Given the description of an element on the screen output the (x, y) to click on. 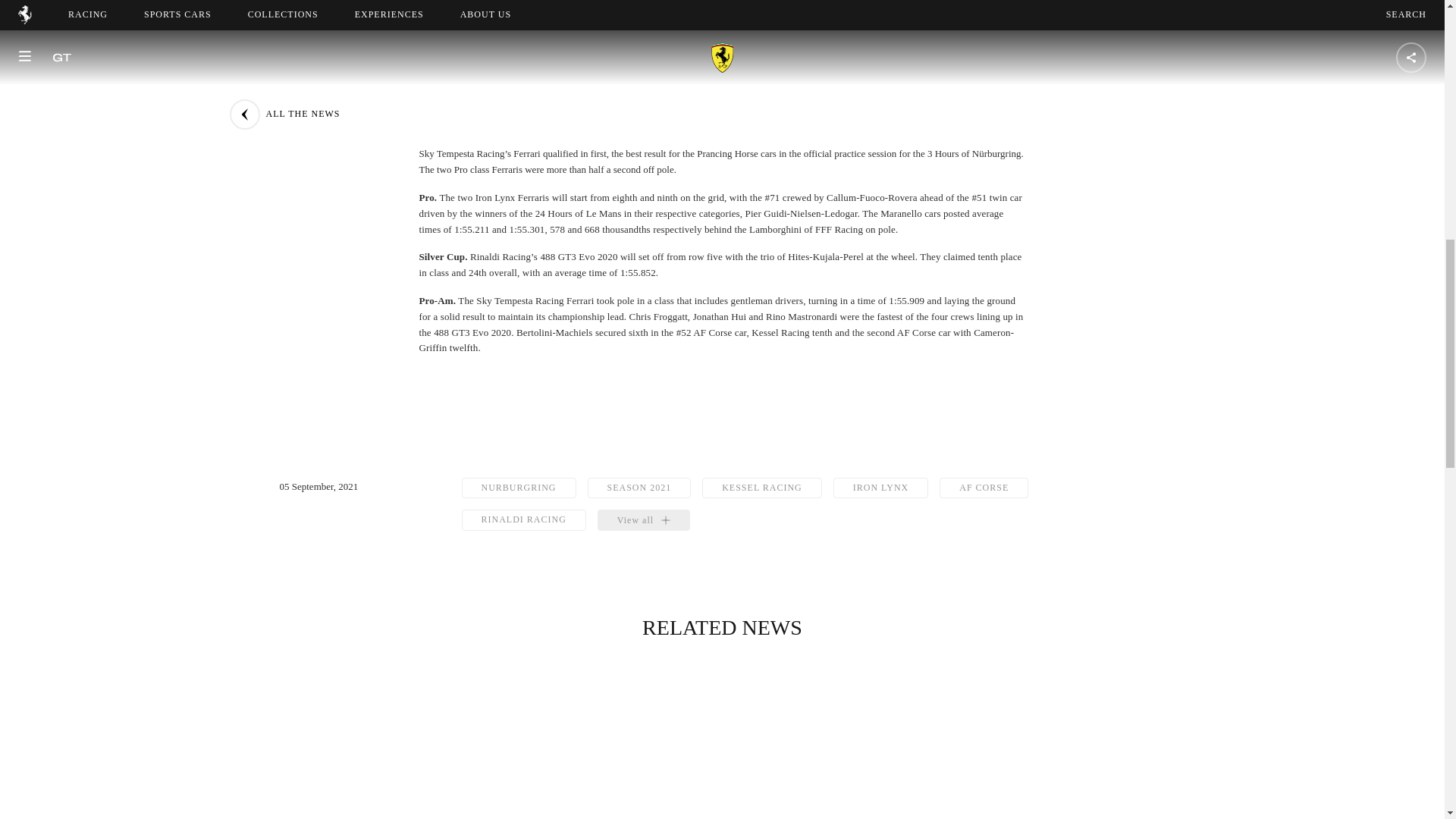
NURBURGRING (518, 487)
View all (643, 519)
IRON LYNX (880, 487)
AF CORSE (983, 487)
RINALDI RACING (523, 519)
SEASON 2021 (639, 487)
KESSEL RACING (761, 487)
